Given the description of an element on the screen output the (x, y) to click on. 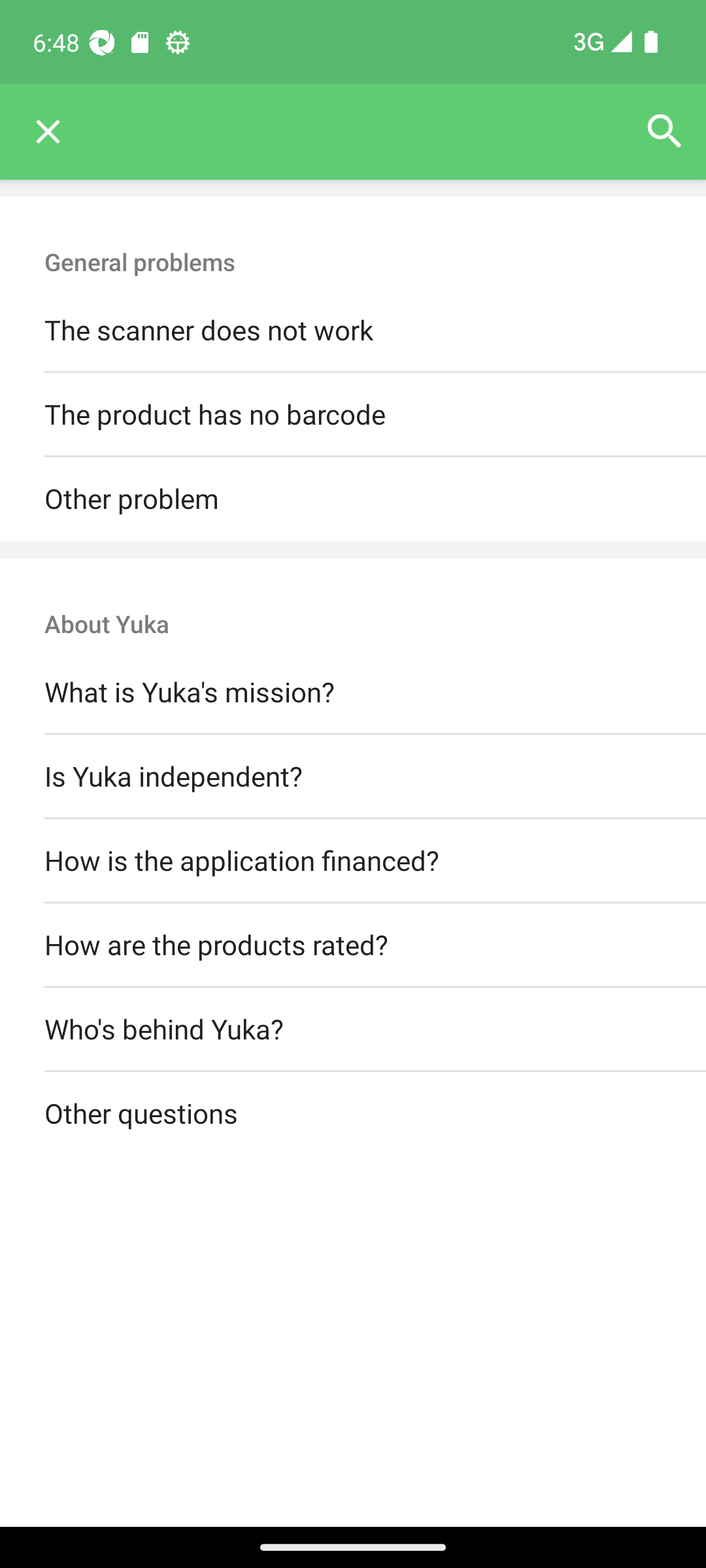
Search (664, 131)
The scanner does not work (353, 330)
The product has no barcode (353, 415)
Other problem (353, 498)
What is Yuka's mission? (353, 692)
Is Yuka independent? (353, 776)
How is the application financed? (353, 860)
How are the products rated? (353, 945)
Who's behind Yuka? (353, 1029)
Other questions (353, 1114)
